Given the description of an element on the screen output the (x, y) to click on. 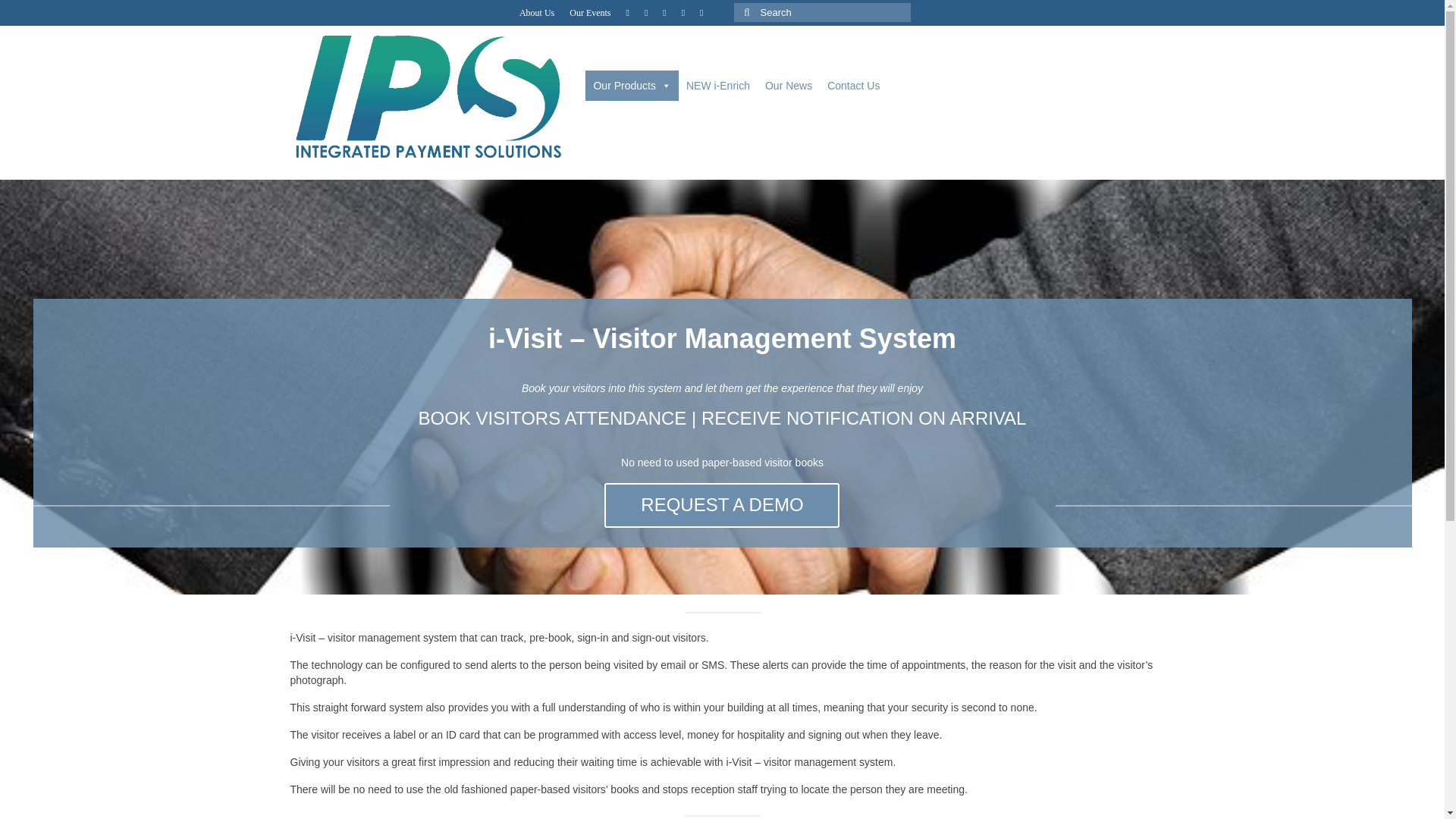
Our Products (631, 85)
About Us (537, 12)
Contact Us (852, 85)
Our Events (589, 12)
NEW i-Enrich (717, 85)
Our News (788, 85)
